Given the description of an element on the screen output the (x, y) to click on. 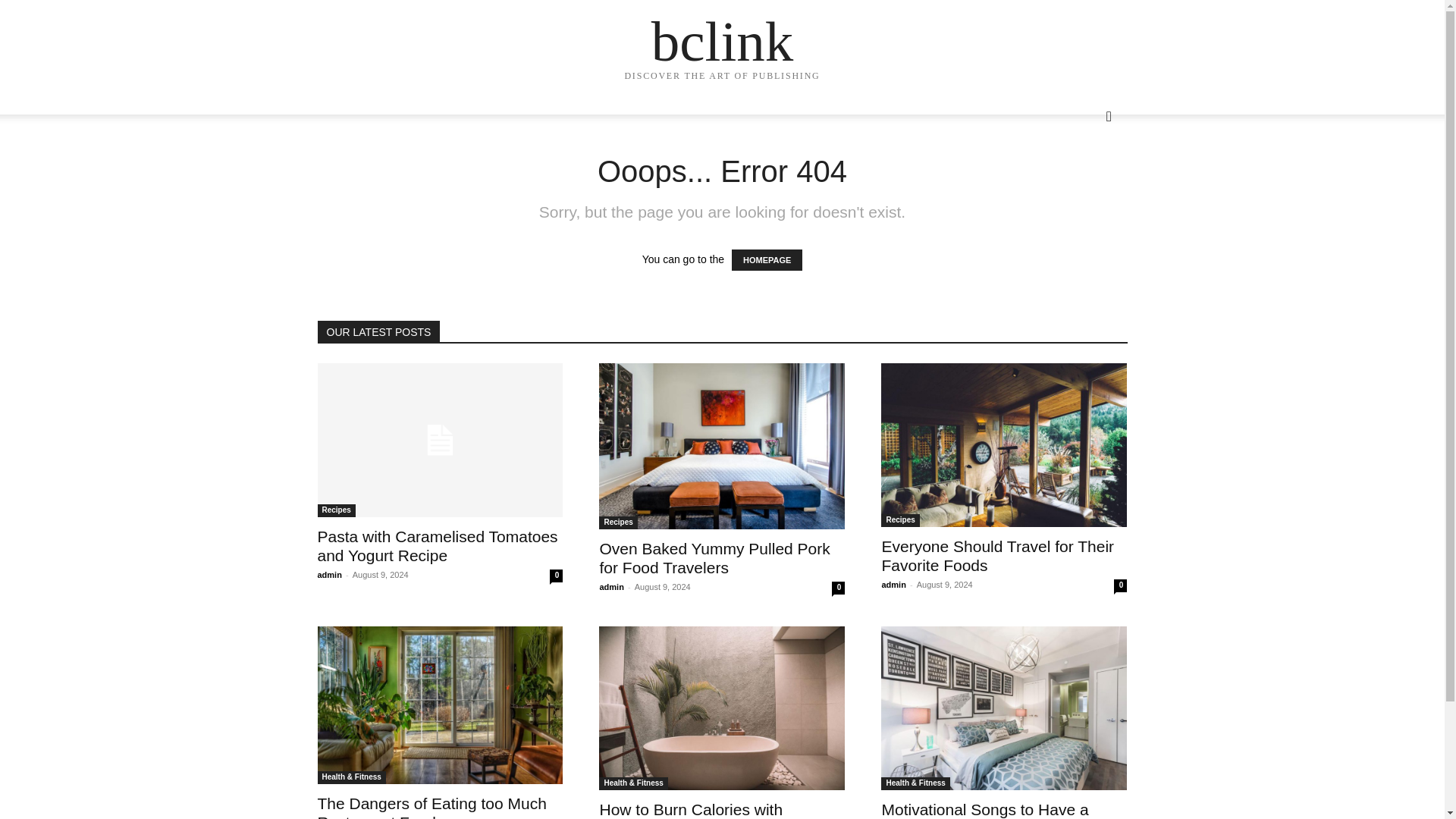
Search (1085, 177)
Pasta with Caramelised Tomatoes and Yogurt Recipe (439, 439)
HOMEPAGE (767, 260)
Pasta with Caramelised Tomatoes and Yogurt Recipe (437, 545)
The Dangers of Eating too Much Restaurant Food (431, 806)
bclink (721, 41)
How to Burn Calories with Pleasant Activities (690, 809)
0 (837, 587)
Everyone Should Travel for Their Favorite Foods (996, 555)
Recipes (617, 522)
